Given the description of an element on the screen output the (x, y) to click on. 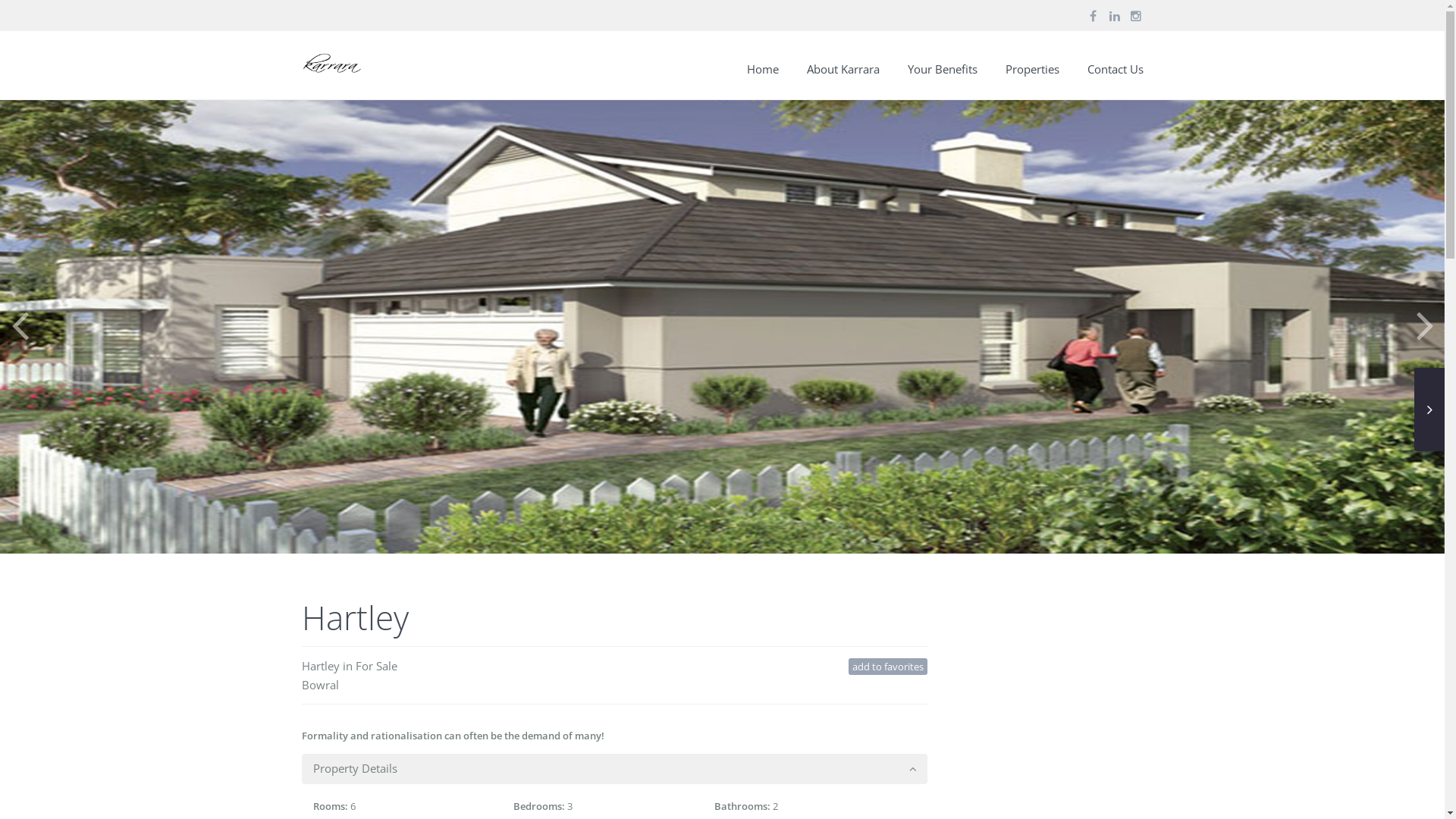
Bowral Element type: text (319, 684)
Hartley Element type: text (320, 665)
About Karrara Element type: text (842, 74)
Property Details Element type: text (614, 767)
For Sale Element type: text (375, 665)
Contact Us Element type: text (1114, 74)
Home Element type: text (762, 74)
Your Benefits Element type: text (942, 74)
Properties Element type: text (1031, 74)
